Given the description of an element on the screen output the (x, y) to click on. 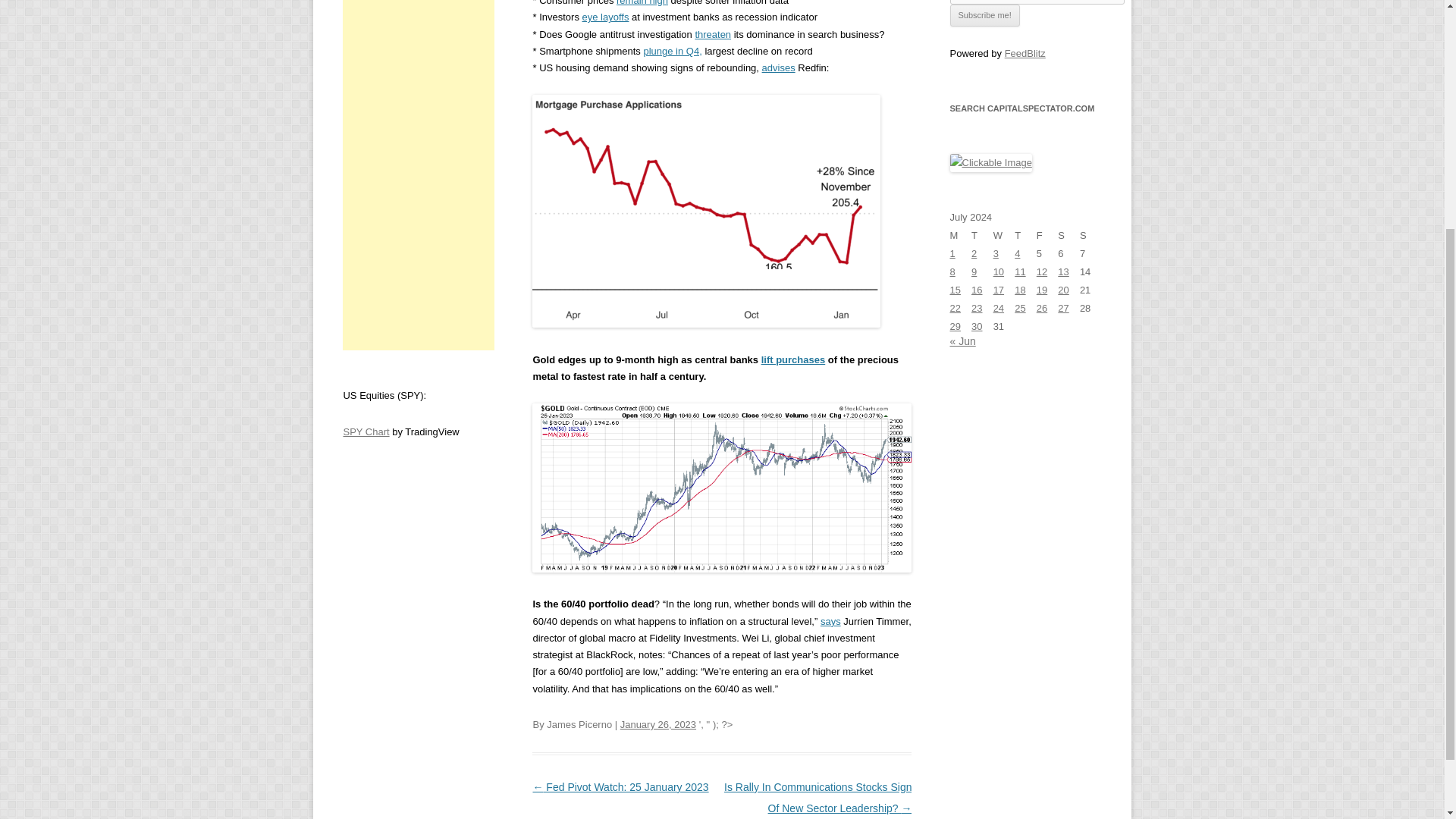
Wednesday (1003, 235)
remain high (641, 2)
Monday (960, 235)
plunge in Q4, (672, 50)
Subscribe me! (984, 15)
lift purchases (793, 359)
advises (777, 67)
Saturday (1069, 235)
Sunday (1091, 235)
6:17 am (657, 724)
eye layoffs (605, 16)
Friday (1047, 235)
threaten (712, 33)
January 26, 2023 (657, 724)
says (831, 621)
